Given the description of an element on the screen output the (x, y) to click on. 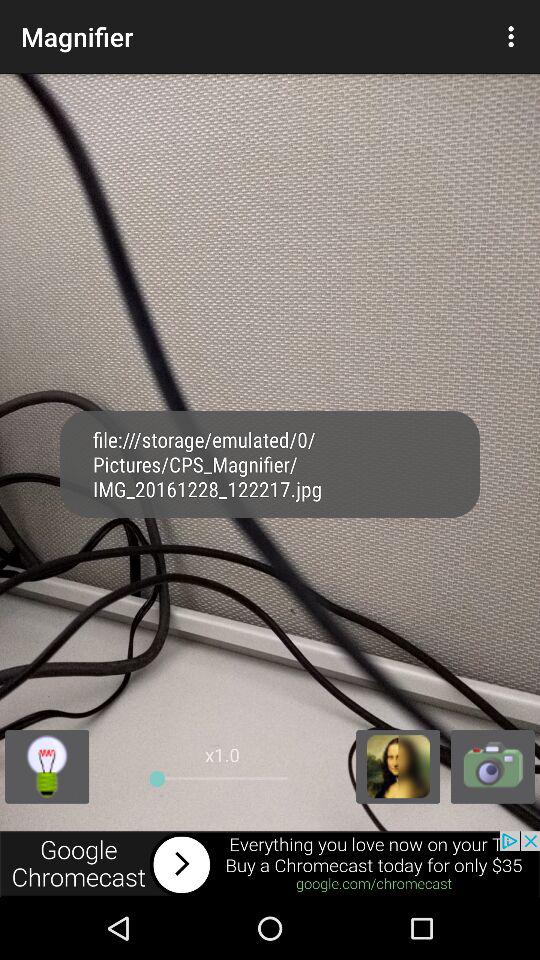
advertisement (270, 864)
